Given the description of an element on the screen output the (x, y) to click on. 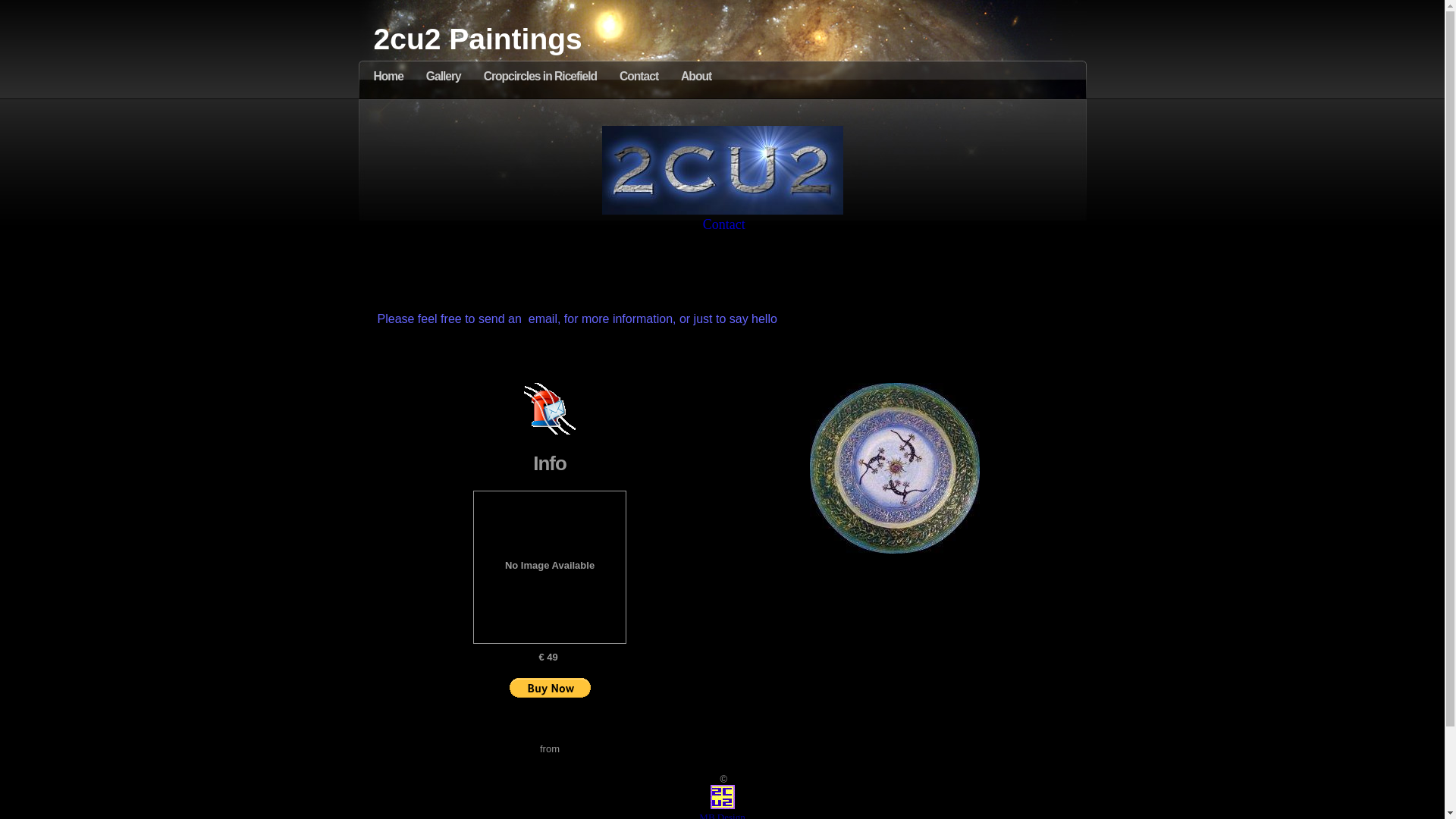
Cropcircles in Ricefield Element type: text (539, 75)
2cu2 Paintings Element type: text (477, 38)
Home Element type: text (387, 75)
Contact Element type: text (638, 75)
About Element type: text (695, 75)
Gallery Element type: text (443, 75)
